Given the description of an element on the screen output the (x, y) to click on. 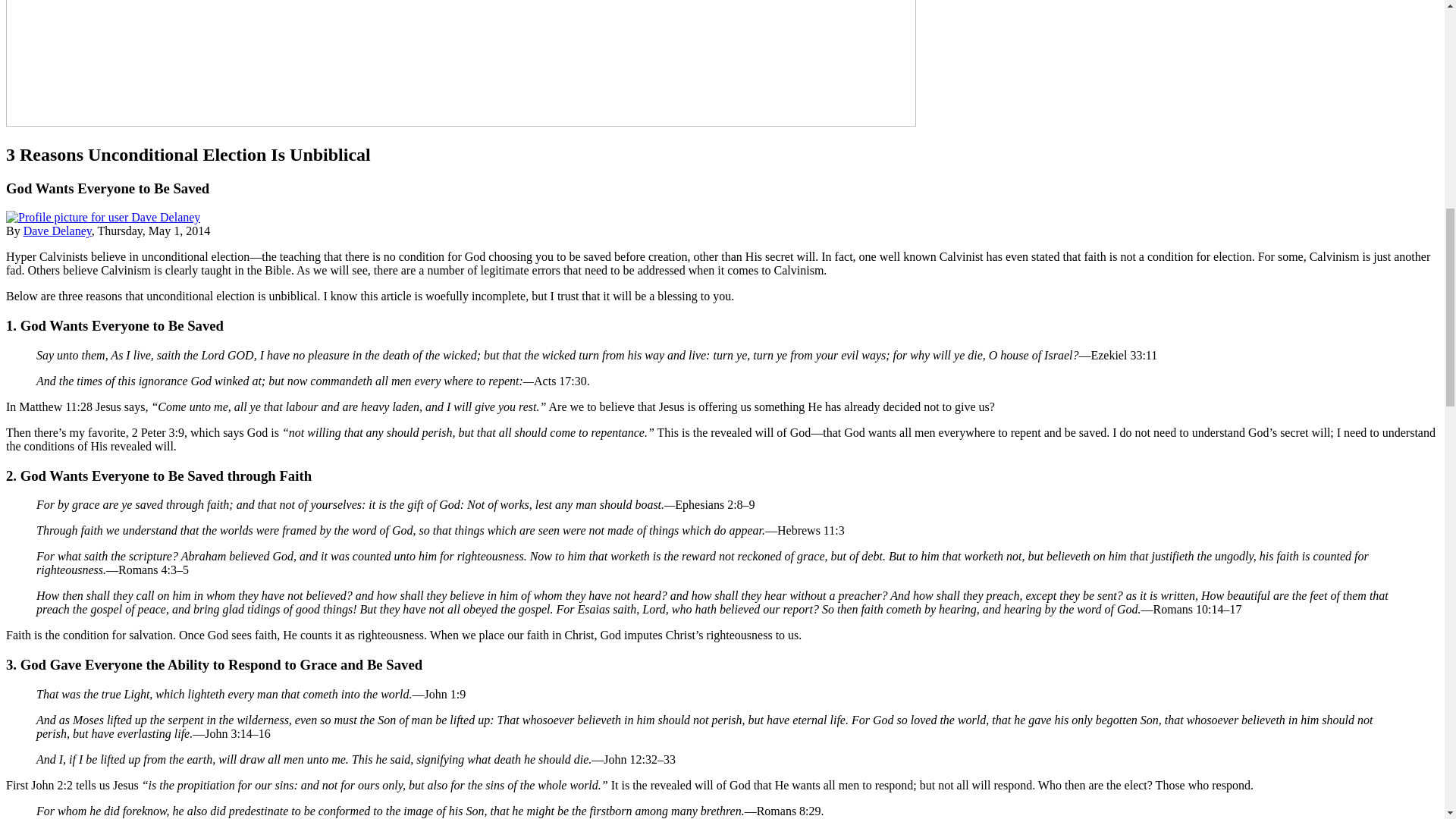
View user profile. (57, 230)
Dave Delaney (57, 230)
